Given the description of an element on the screen output the (x, y) to click on. 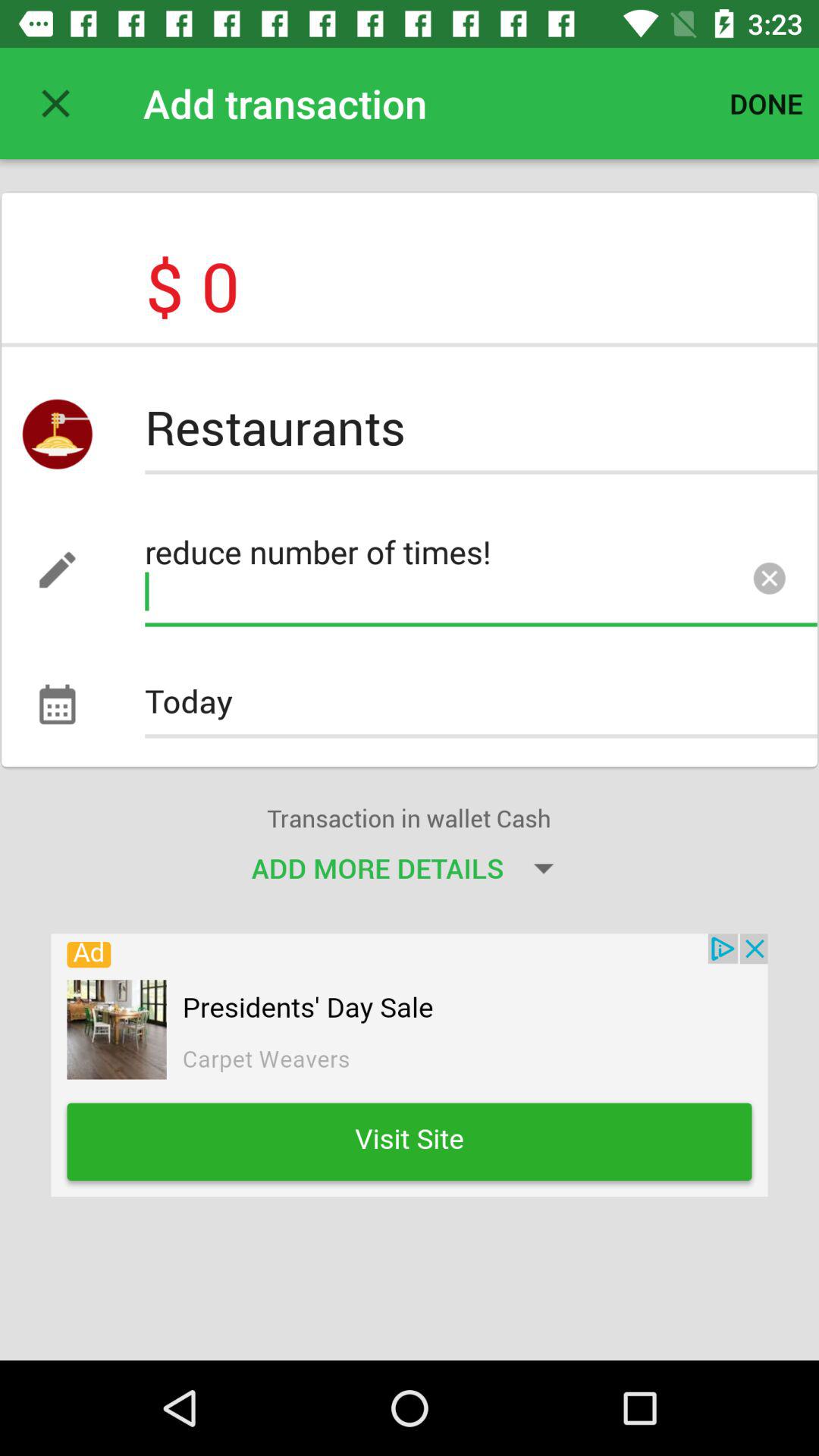
exit (55, 103)
